Given the description of an element on the screen output the (x, y) to click on. 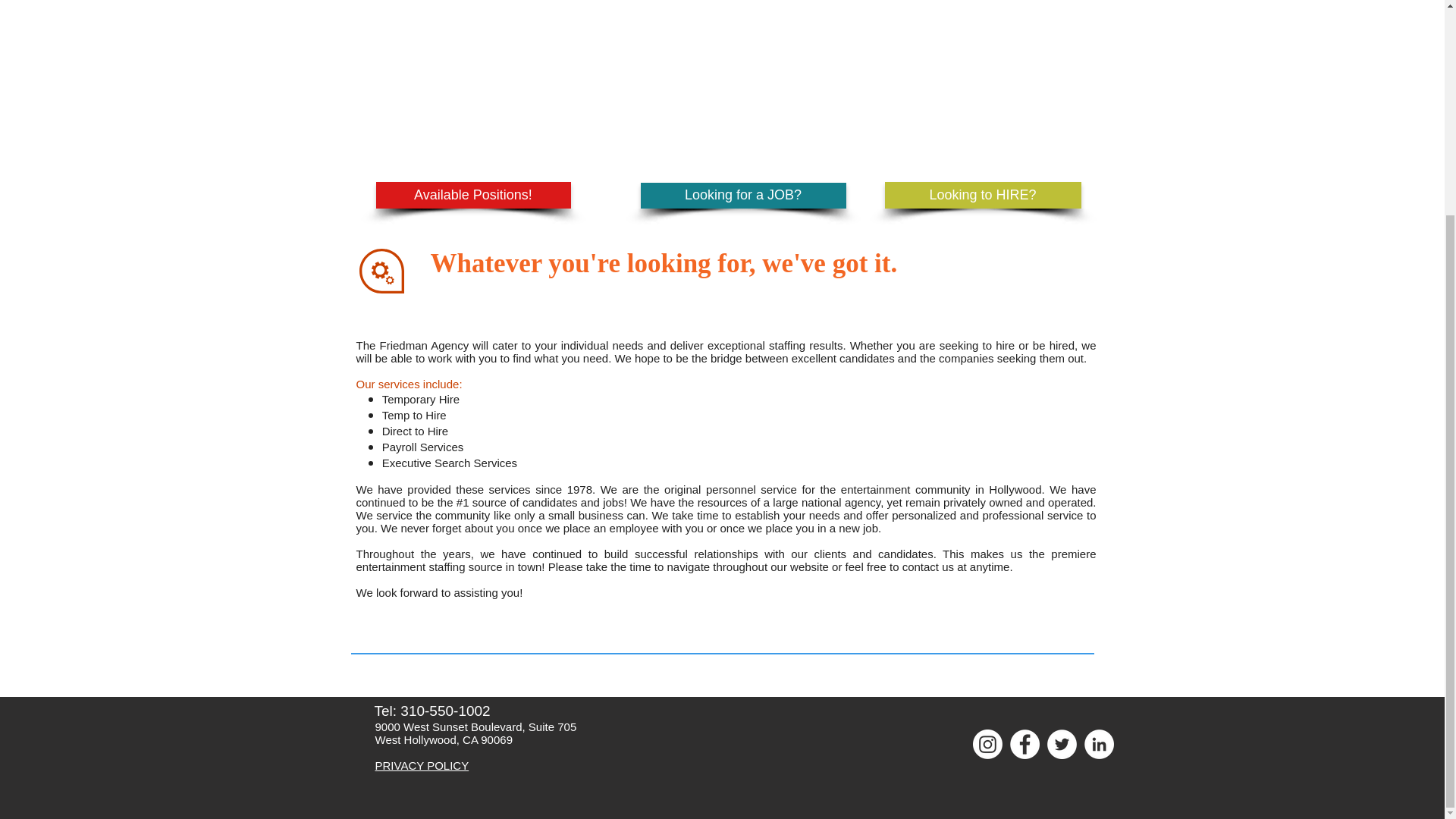
Available Positions! (472, 194)
Looking to HIRE? (981, 194)
PRIVACY POLICY (421, 765)
Looking for a JOB? (742, 195)
